Given the description of an element on the screen output the (x, y) to click on. 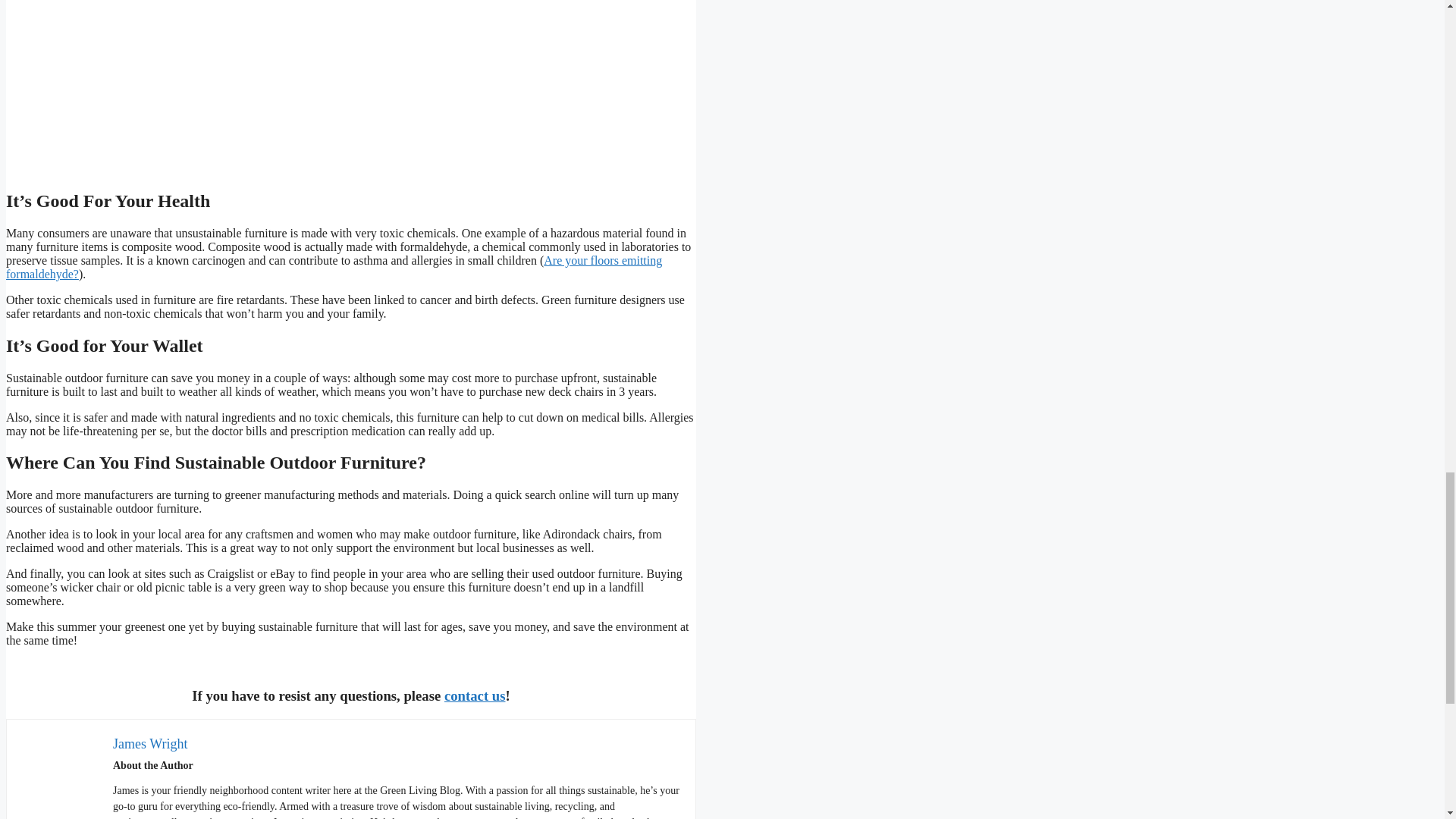
contact us (474, 695)
James Wright (150, 743)
Are your floors emitting formaldehyde? (333, 266)
